Given the description of an element on the screen output the (x, y) to click on. 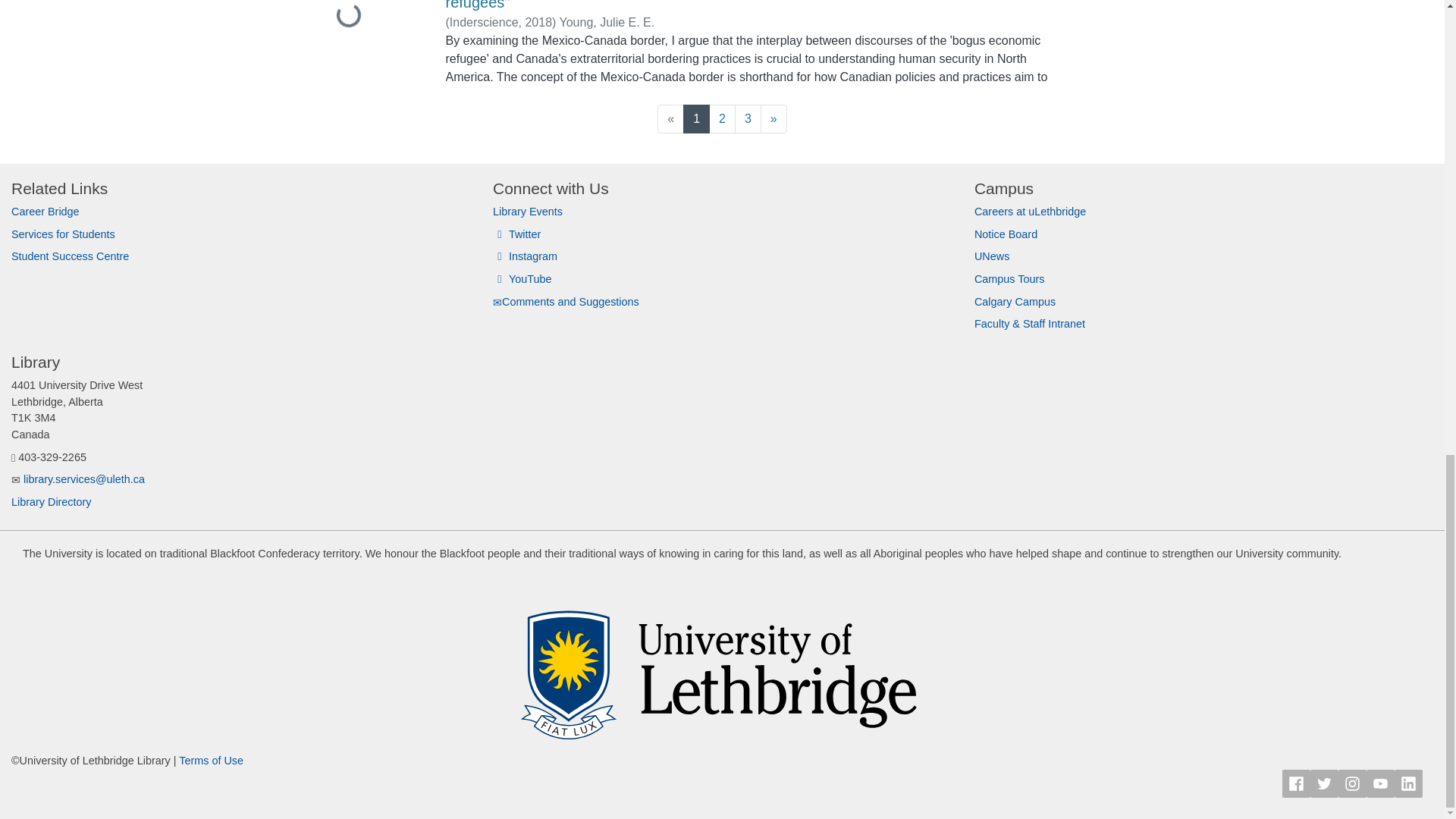
Twitter Link (1324, 783)
Facebook Link (1296, 783)
YouTube Link (1380, 783)
Instagram Link (1352, 783)
LinkedIn Link (1408, 783)
The University of Lethbridge (721, 664)
